Given the description of an element on the screen output the (x, y) to click on. 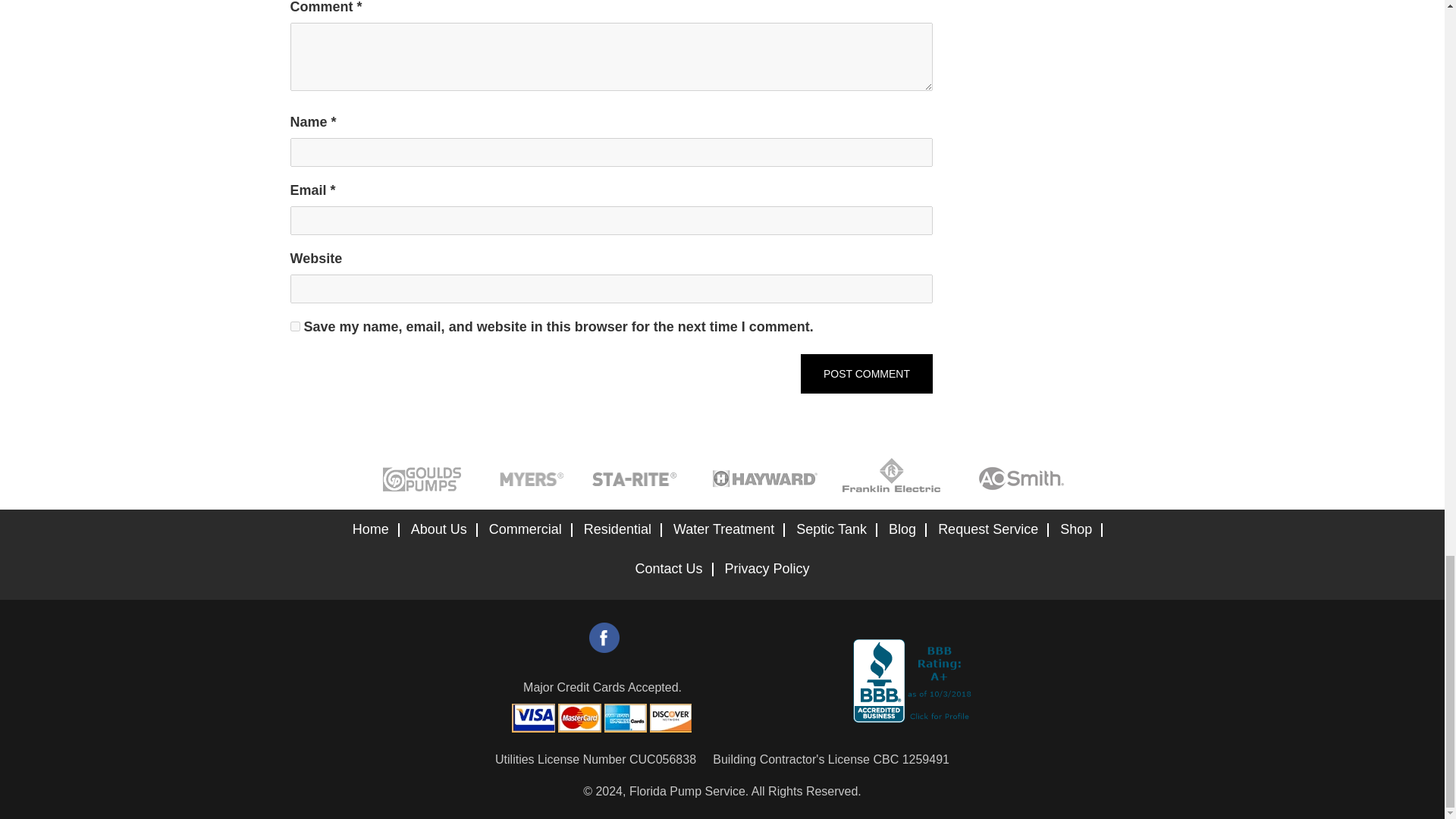
Post Comment (866, 373)
Post Comment (866, 373)
yes (294, 326)
Facebook (604, 637)
